Given the description of an element on the screen output the (x, y) to click on. 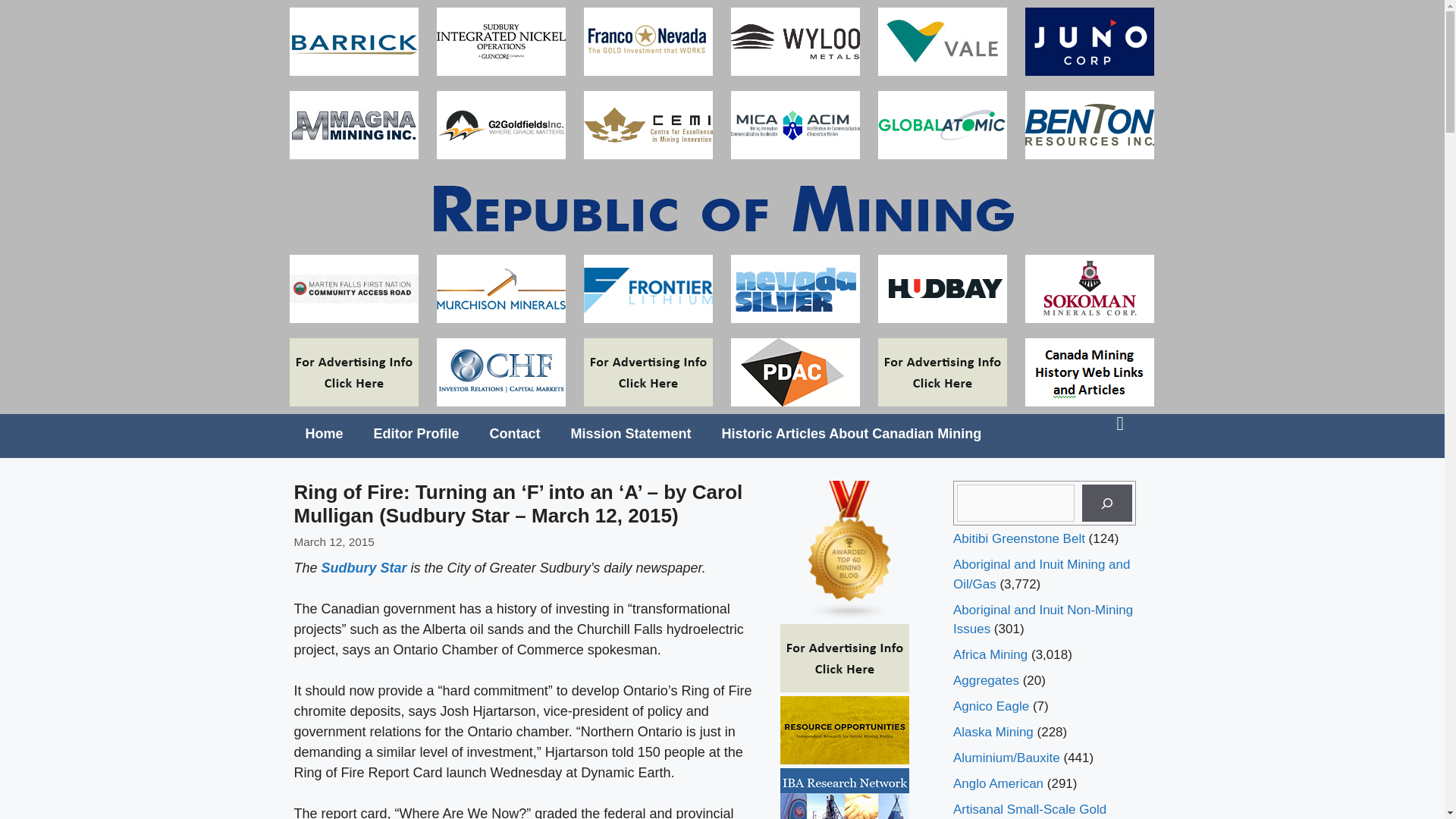
Home (323, 433)
Sudbury Star (364, 567)
Mission Statement (631, 433)
Historic Articles About Canadian Mining (851, 433)
Editor Profile (416, 433)
Sudbury Star (364, 567)
Contact (515, 433)
